Given the description of an element on the screen output the (x, y) to click on. 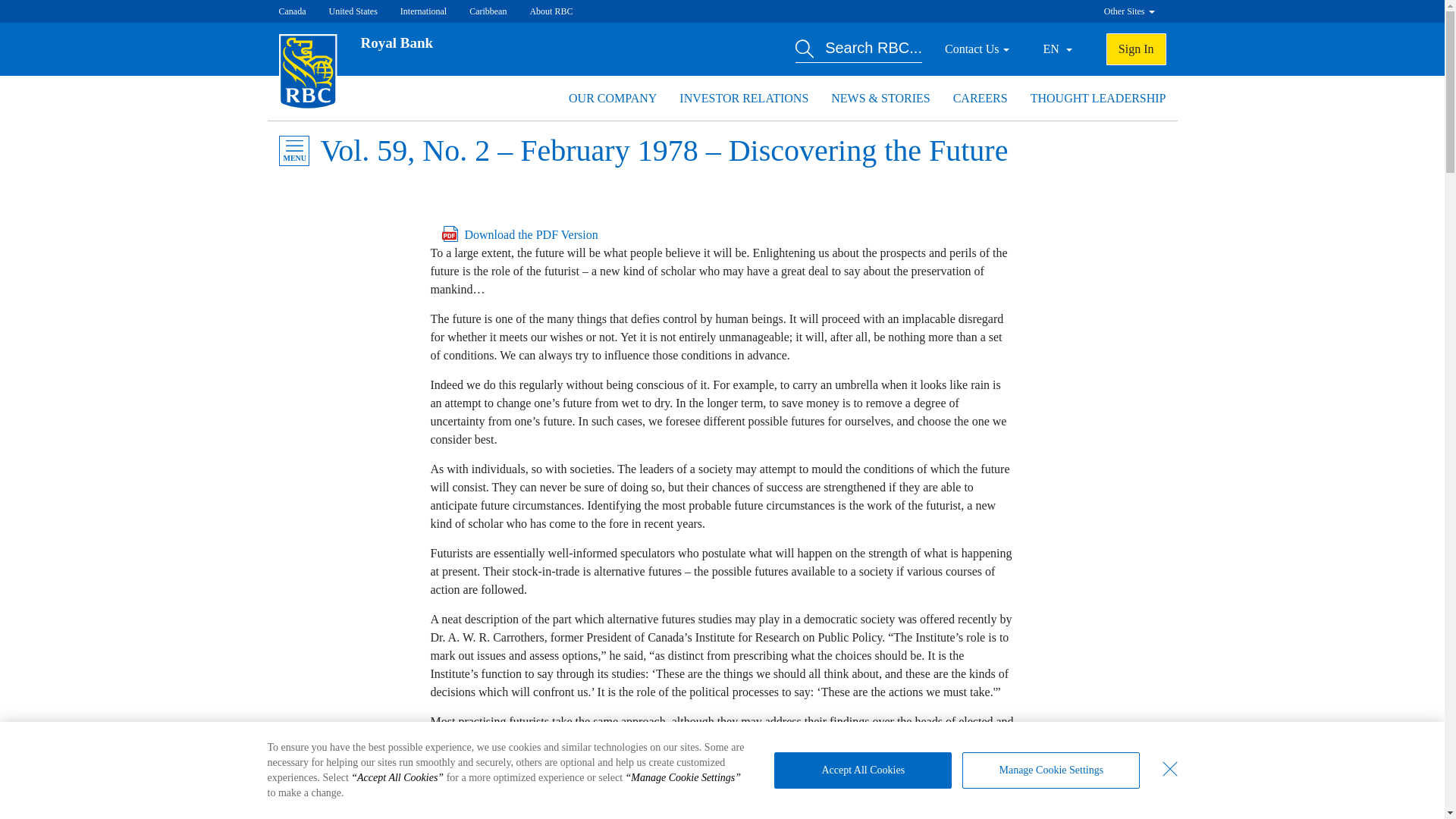
Sign In (1136, 49)
Other Sites (1128, 10)
Caribbean (487, 10)
About RBC (550, 10)
OUR COMPANY (612, 98)
THOUGHT LEADERSHIP (1098, 98)
Canada (292, 10)
United States (353, 10)
INVESTOR RELATIONS (743, 98)
International (423, 10)
Royal Bank (397, 42)
CAREERS (980, 98)
